Given the description of an element on the screen output the (x, y) to click on. 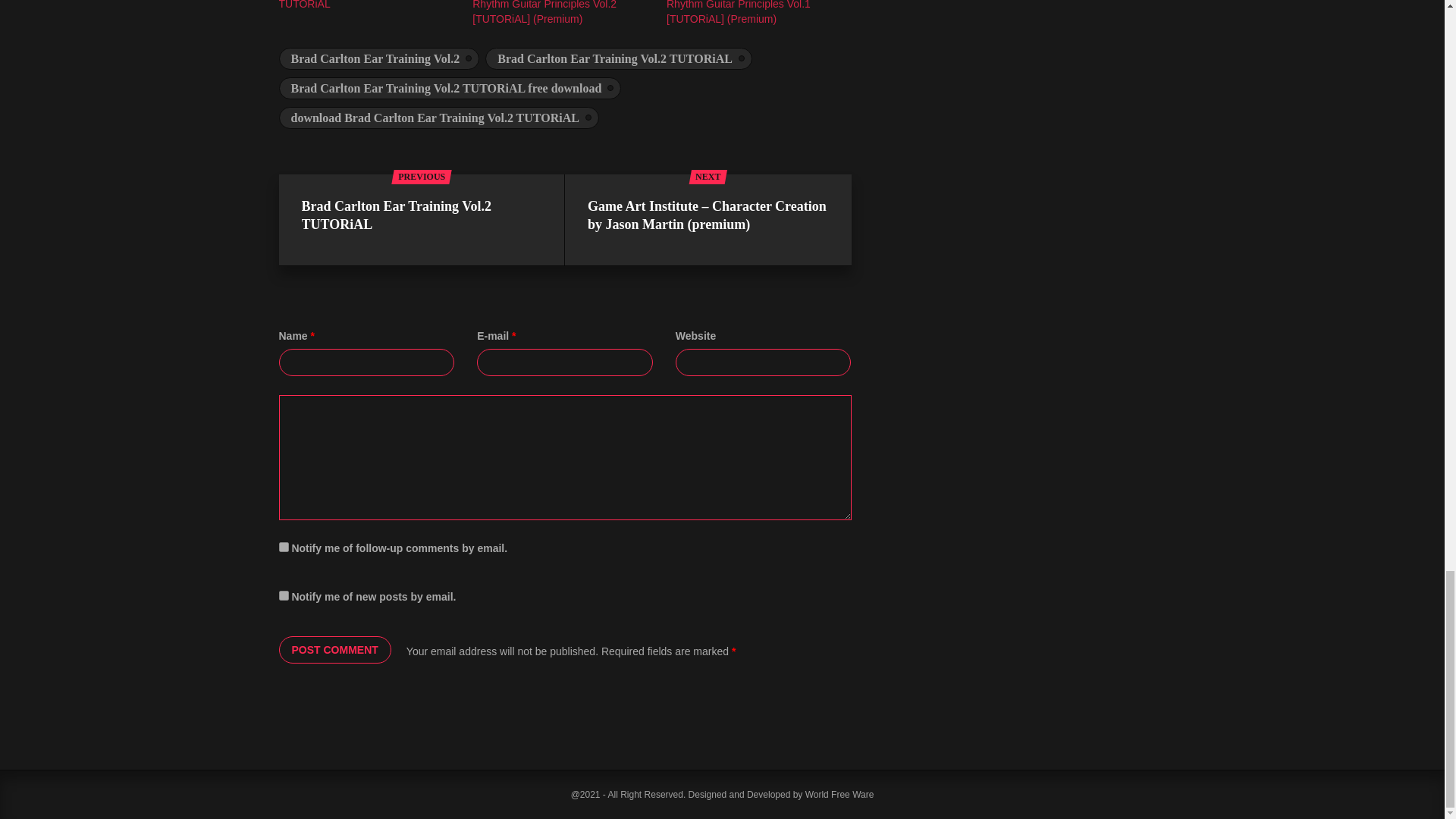
Brad Carlton Ear Training Vol.2 TUTORiAL (352, 4)
subscribe (283, 595)
Brad Carlton Ear Training Vol.2 TUTORiAL (618, 58)
download Brad Carlton Ear Training Vol.2 TUTORiAL (438, 117)
Brad Carlton Ear Training Vol.2 TUTORiAL free download (450, 87)
Post comment (335, 649)
Brad Carlton Ear Training Vol.2 (379, 58)
subscribe (283, 547)
